Given the description of an element on the screen output the (x, y) to click on. 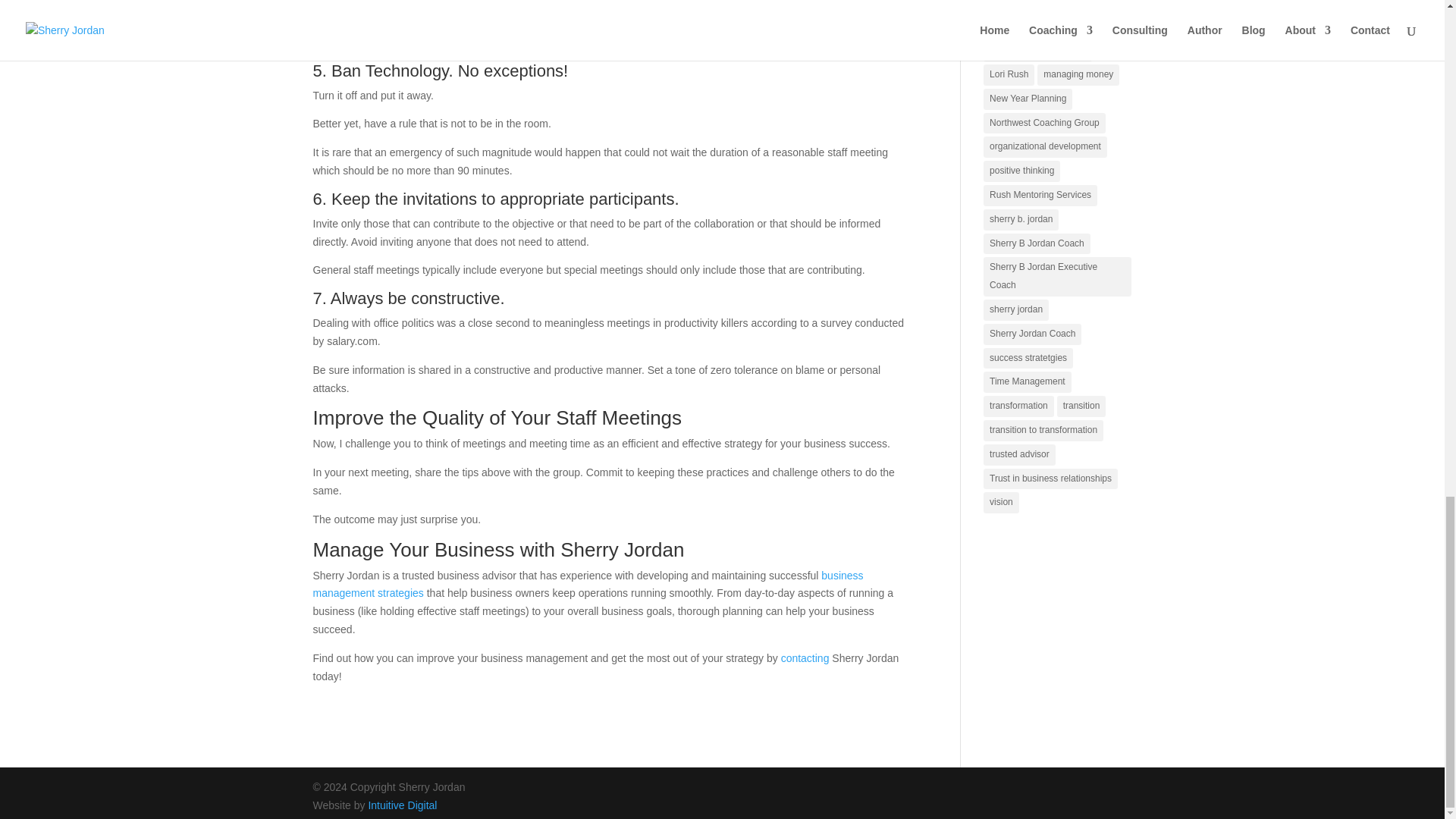
business management strategies (588, 584)
contacting (804, 657)
